Given the description of an element on the screen output the (x, y) to click on. 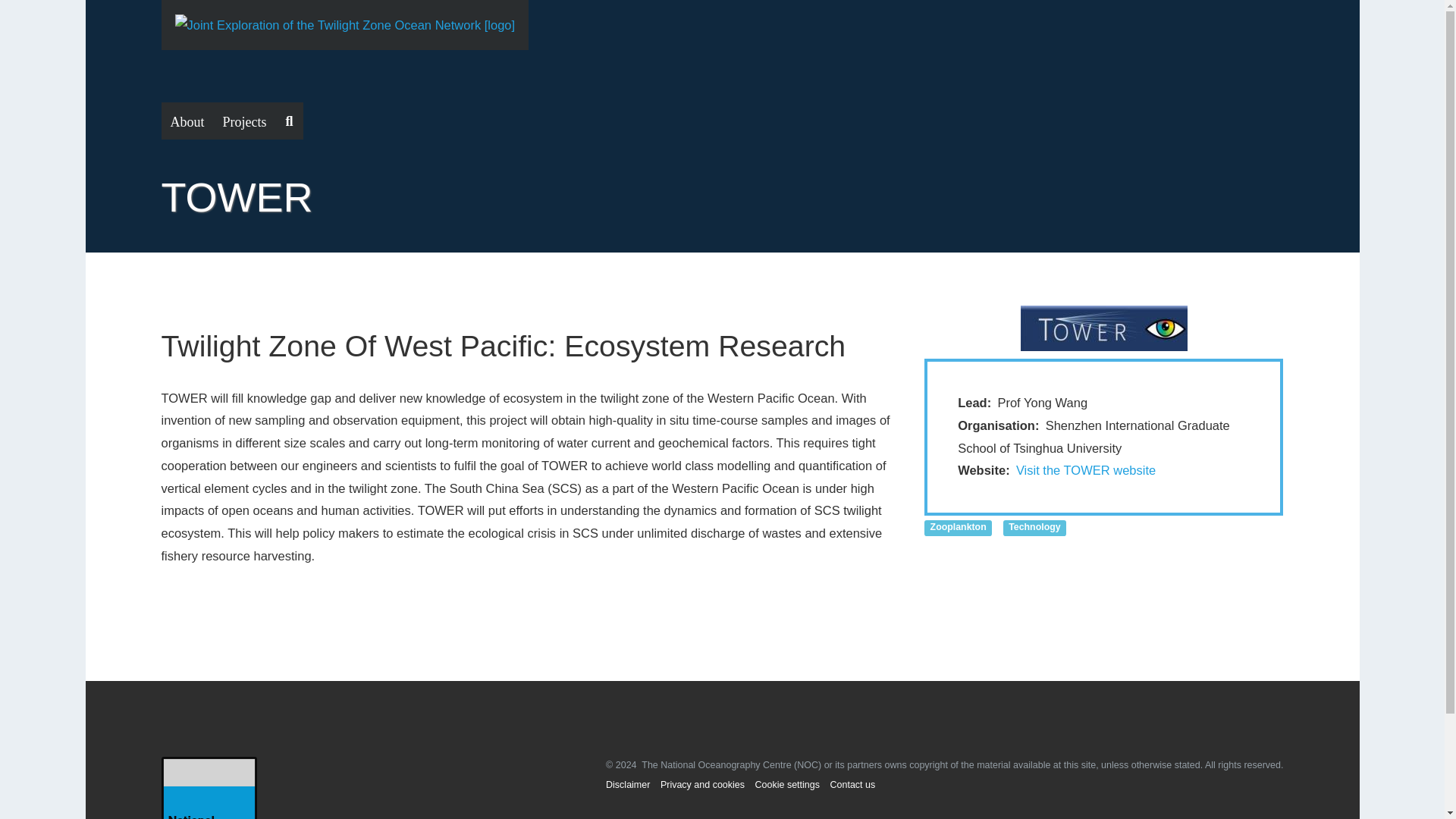
Zooplankton (957, 526)
Technology (1034, 526)
Projects (245, 120)
Contact us (852, 784)
Privacy and cookies (702, 784)
Cookie settings (787, 784)
Disclaimer (627, 784)
Visit the TOWER website (1086, 469)
About (186, 120)
